Given the description of an element on the screen output the (x, y) to click on. 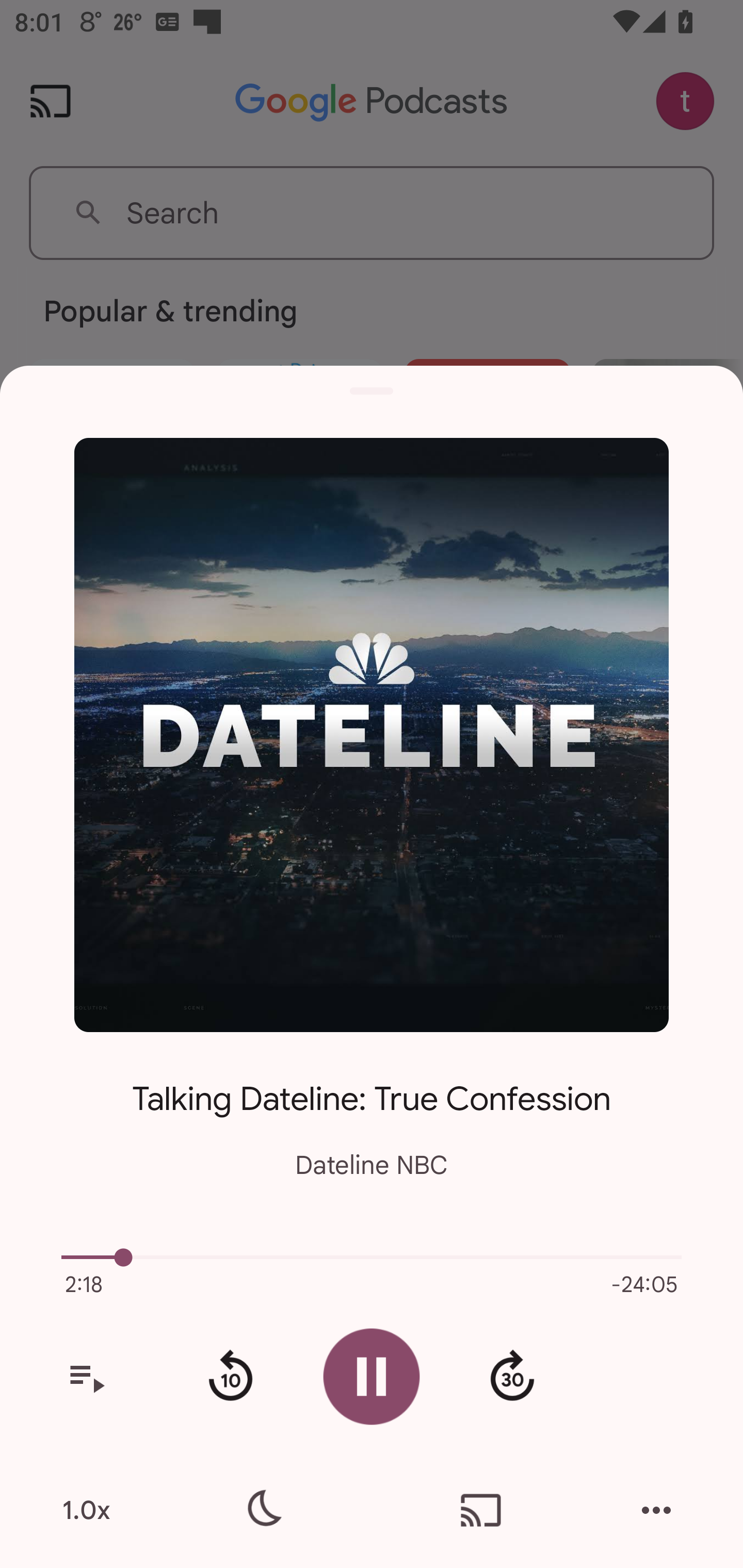
Open the show page for Dateline NBC (371, 734)
Talking Dateline: True Confession Dateline NBC (371, 1115)
877.0 Current episode playback (371, 1257)
Pause (371, 1376)
View your queue (86, 1376)
Rewind 10 seconds (230, 1376)
Fast forward 30 second (511, 1376)
1.0x Playback speed is 1.0. (86, 1510)
Sleep timer settings (261, 1510)
Cast. Disconnected (480, 1510)
More actions (655, 1510)
